Given the description of an element on the screen output the (x, y) to click on. 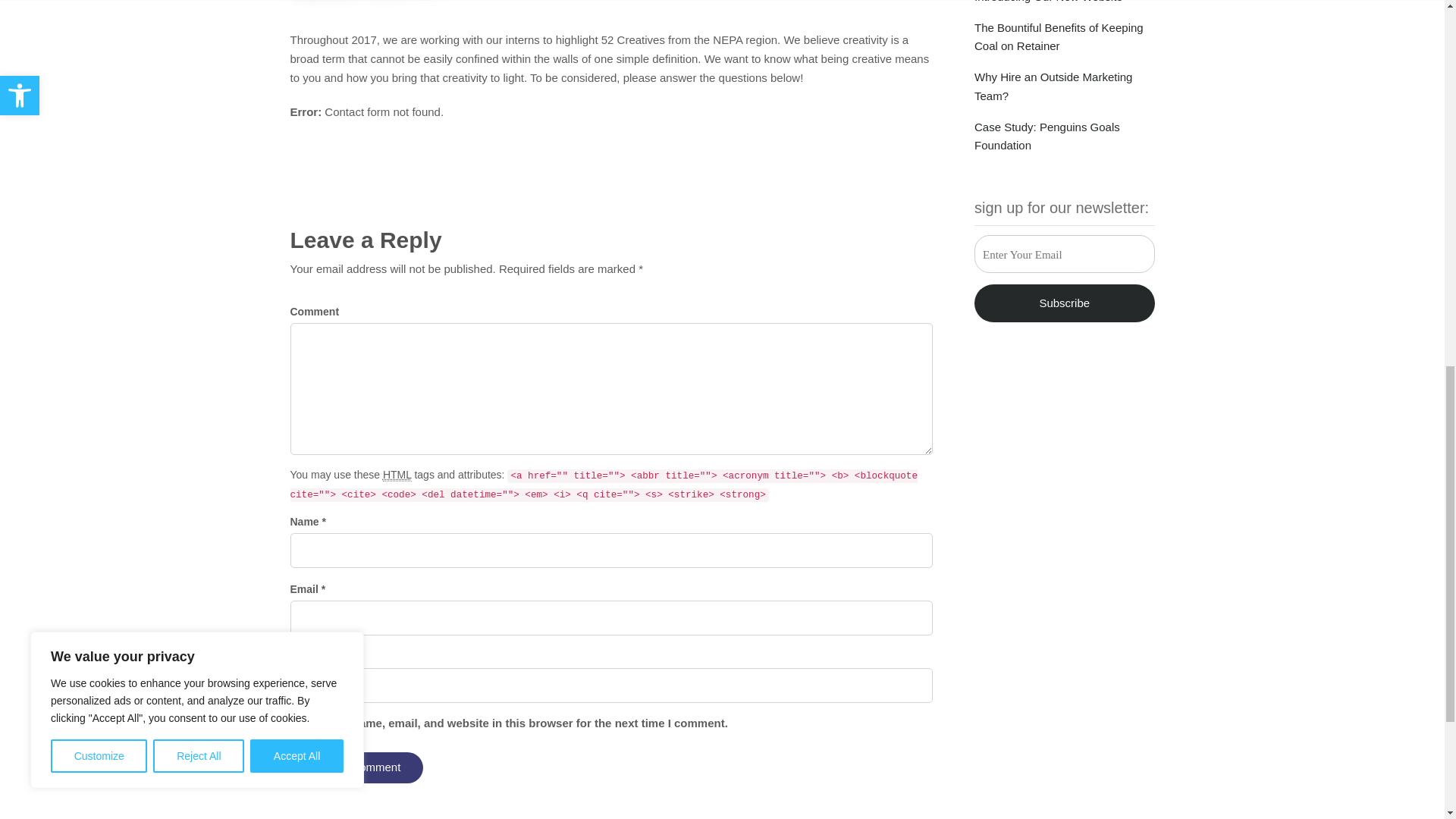
HyperText Markup Language (397, 474)
Subscribe (1064, 303)
yes (294, 722)
Submit Comment (356, 767)
